Given the description of an element on the screen output the (x, y) to click on. 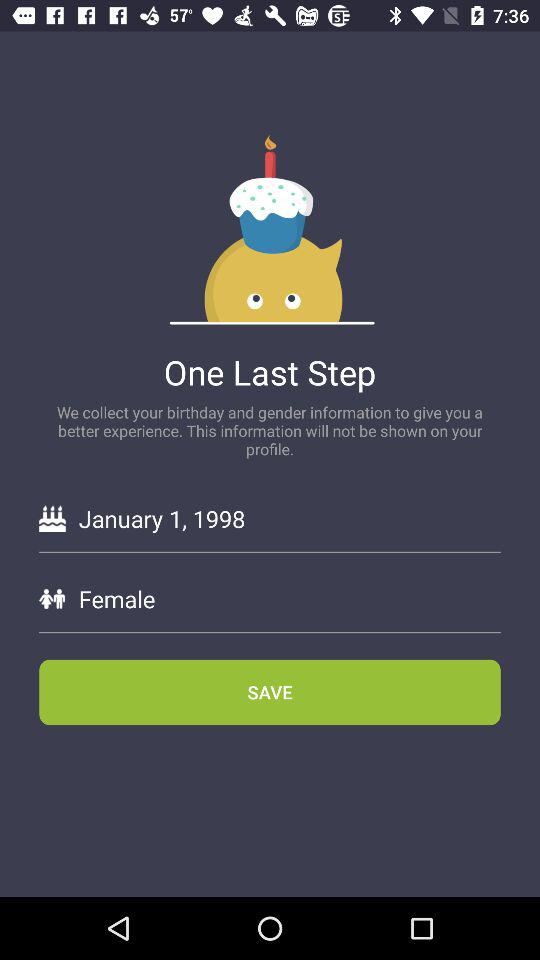
choose the save icon (269, 692)
